Given the description of an element on the screen output the (x, y) to click on. 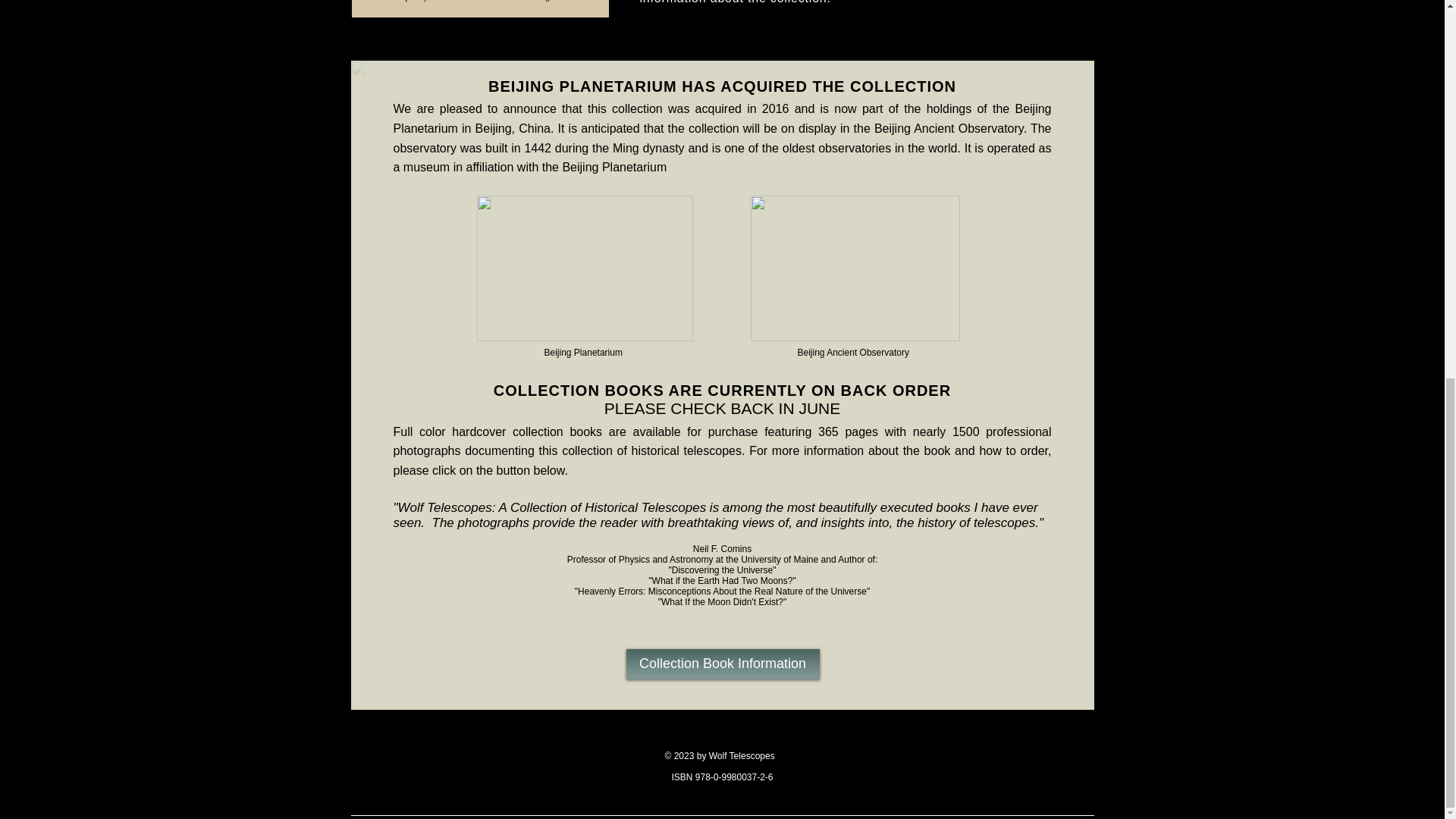
Collection Book Information (722, 664)
